Given the description of an element on the screen output the (x, y) to click on. 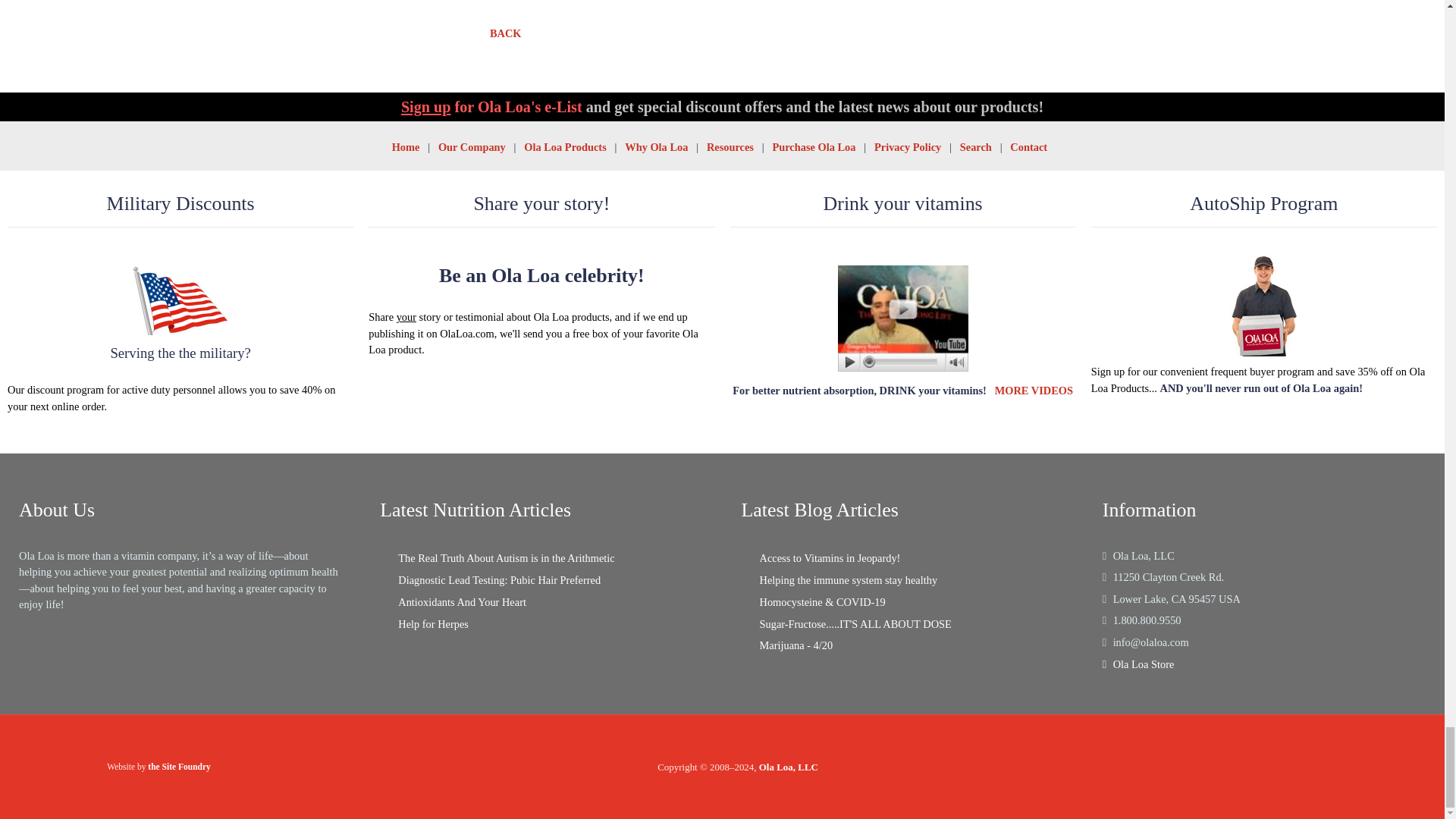
Ola Loa is the best way to Drink Your Vitamins (903, 316)
Click to learn more (541, 309)
Click to learn more (180, 339)
